Given the description of an element on the screen output the (x, y) to click on. 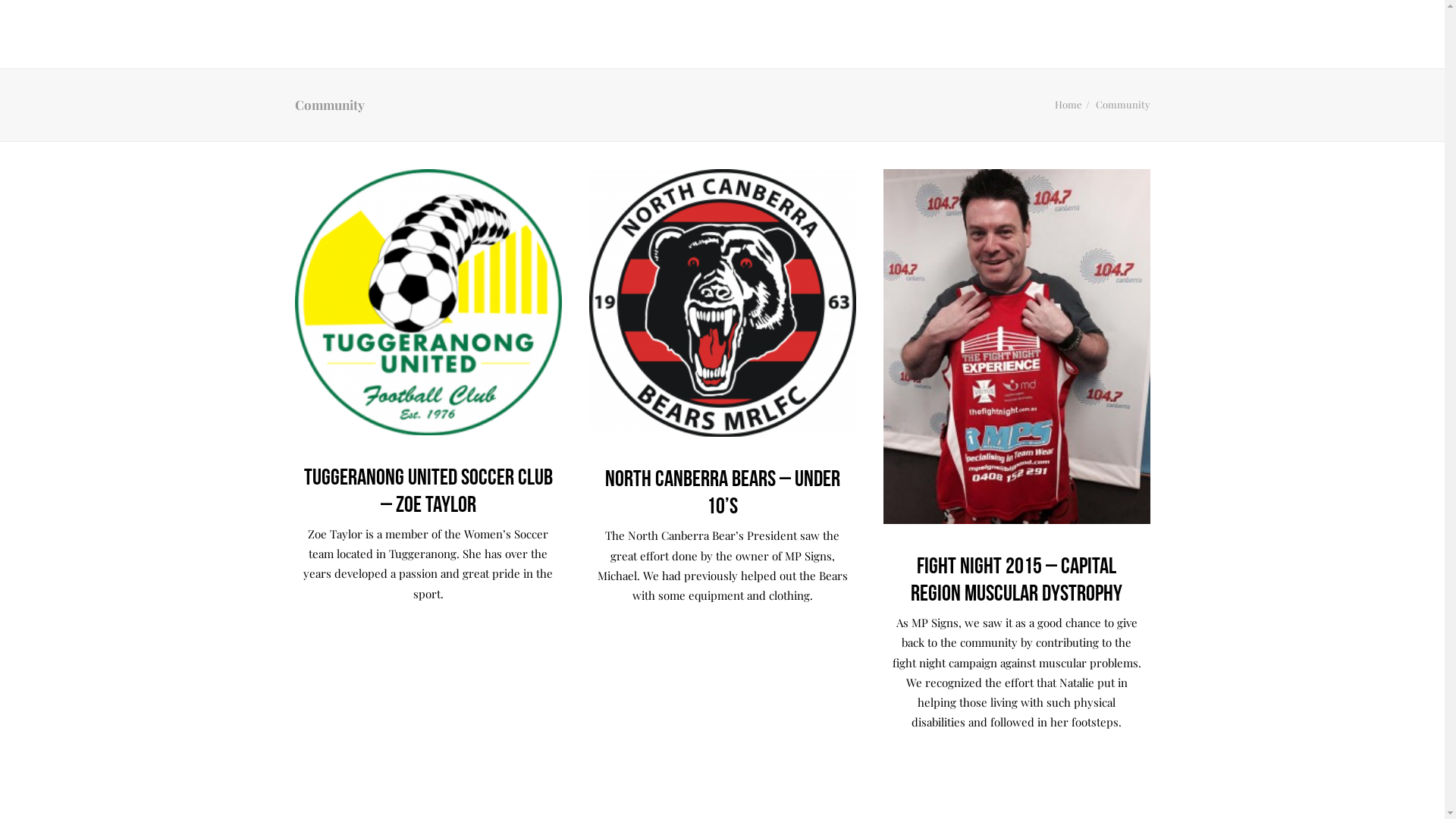
Home Element type: text (1067, 103)
MP Signs Element type: text (63, 33)
